Given the description of an element on the screen output the (x, y) to click on. 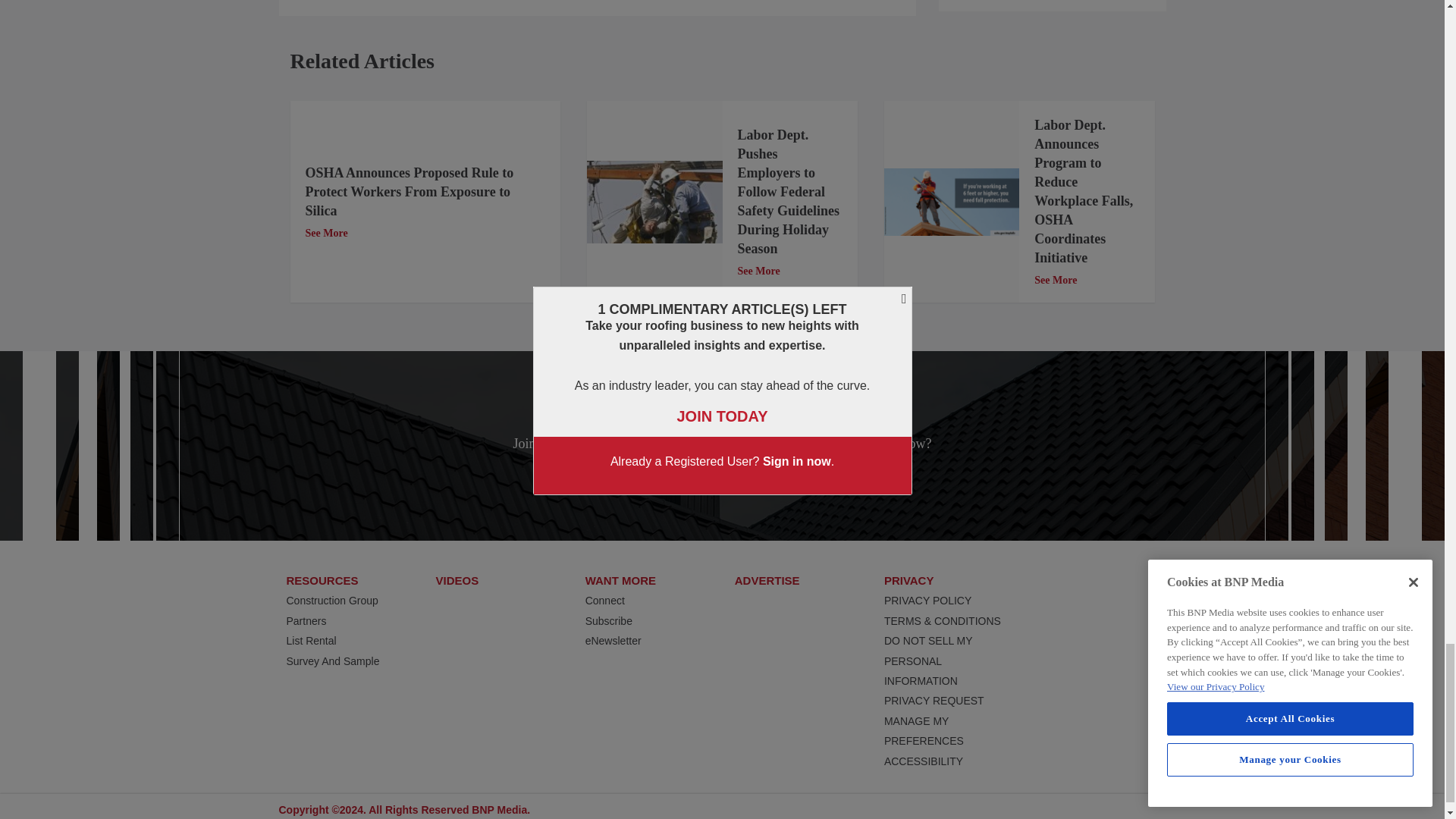
Interaction questions (1052, 5)
OSHA Holiday Safety Notice - RC- TOF.jpg (654, 201)
